Given the description of an element on the screen output the (x, y) to click on. 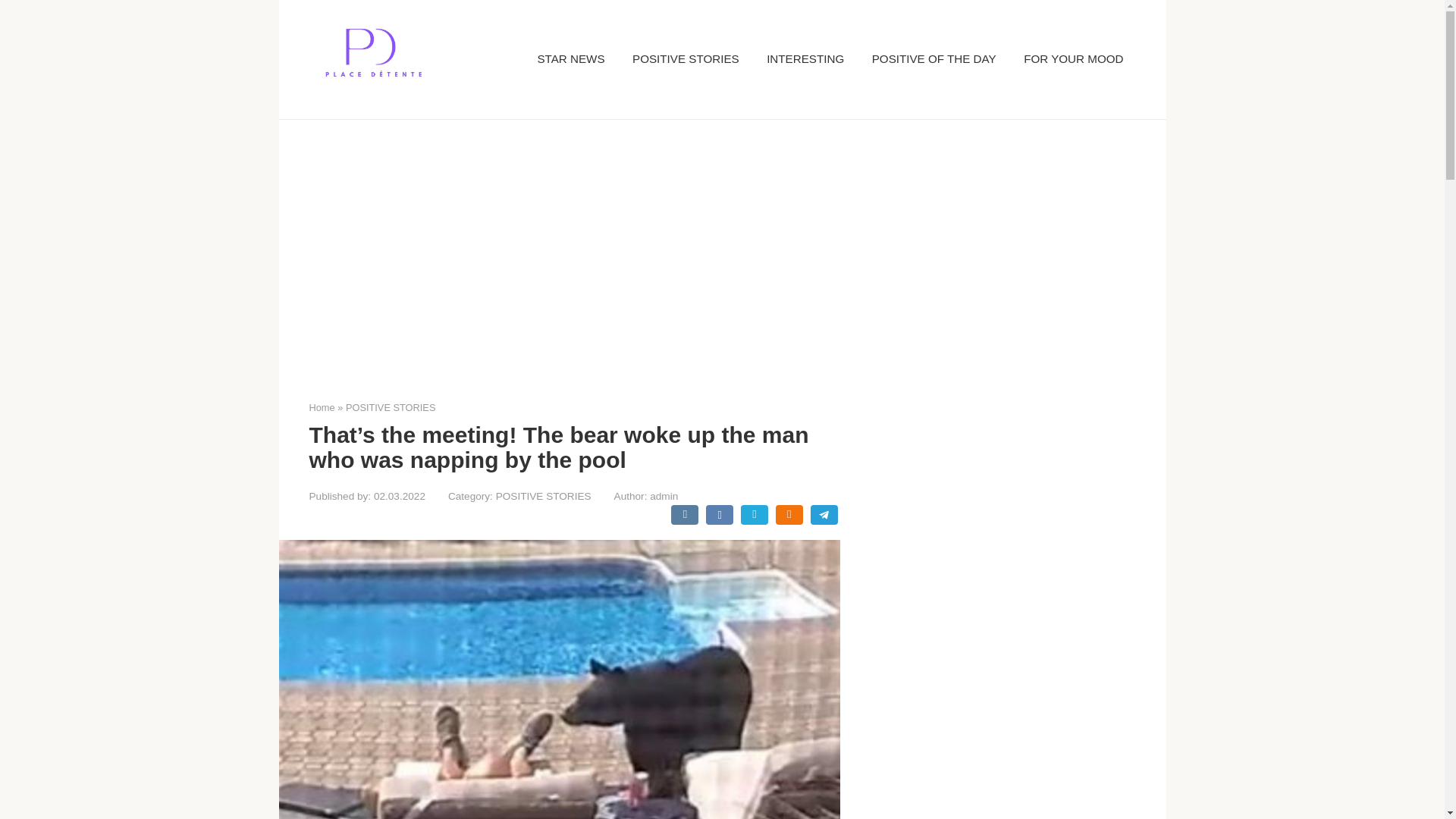
INTERESTING (805, 59)
STAR NEWS (570, 59)
POSITIVE OF THE DAY (933, 59)
POSITIVE STORIES (543, 496)
FOR YOUR MOOD (1072, 59)
POSITIVE STORIES (390, 407)
POSITIVE STORIES (685, 59)
Home (321, 407)
